Given the description of an element on the screen output the (x, y) to click on. 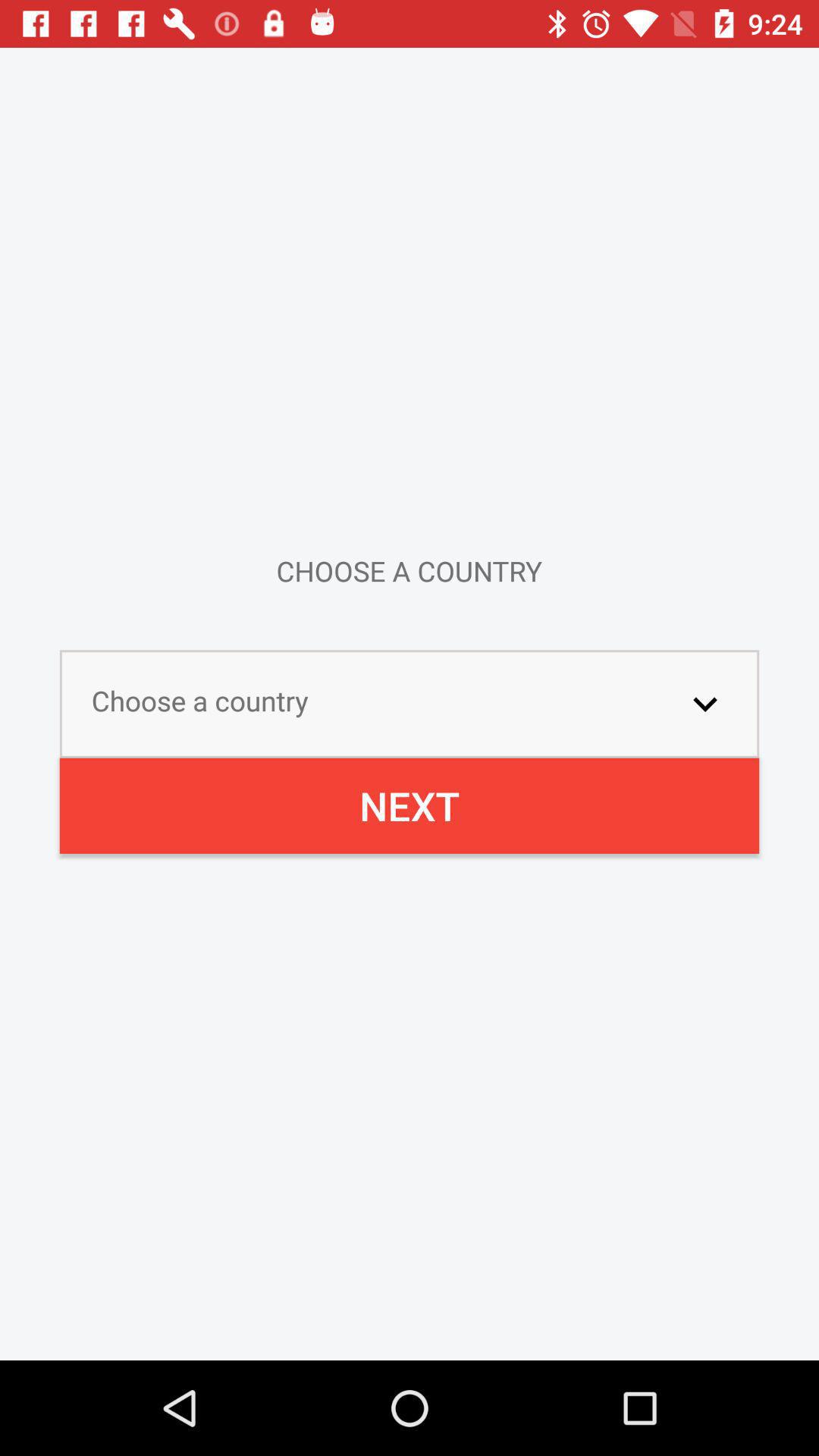
tap icon to the right of the choose a country icon (705, 704)
